Given the description of an element on the screen output the (x, y) to click on. 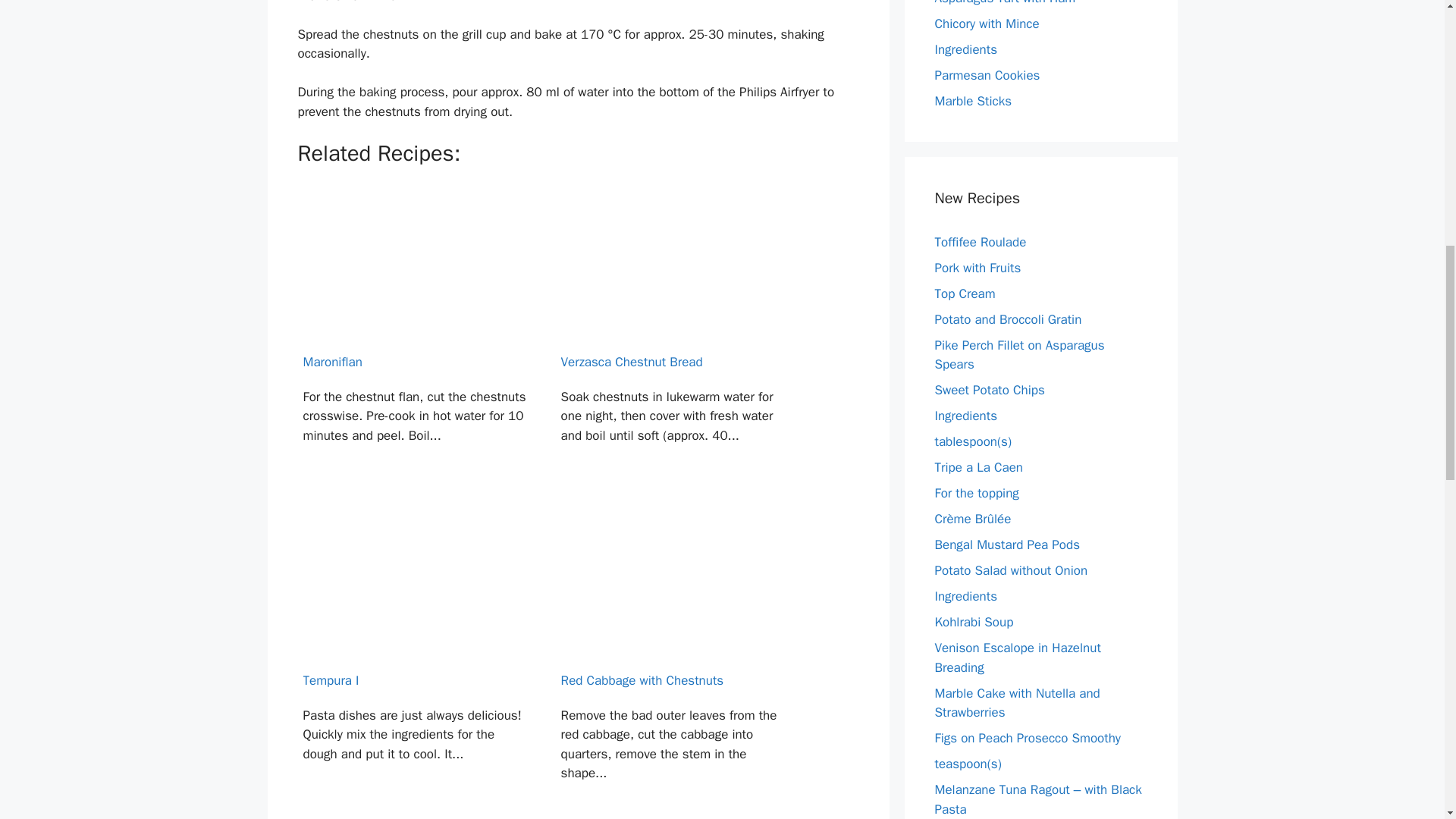
Ingredients (965, 49)
Parmesan Cookies (986, 75)
Marble Sticks (972, 100)
Asparagus Tart with Ham (1004, 2)
Toffifee Roulade (980, 241)
Chicory with Mince (986, 23)
